Given the description of an element on the screen output the (x, y) to click on. 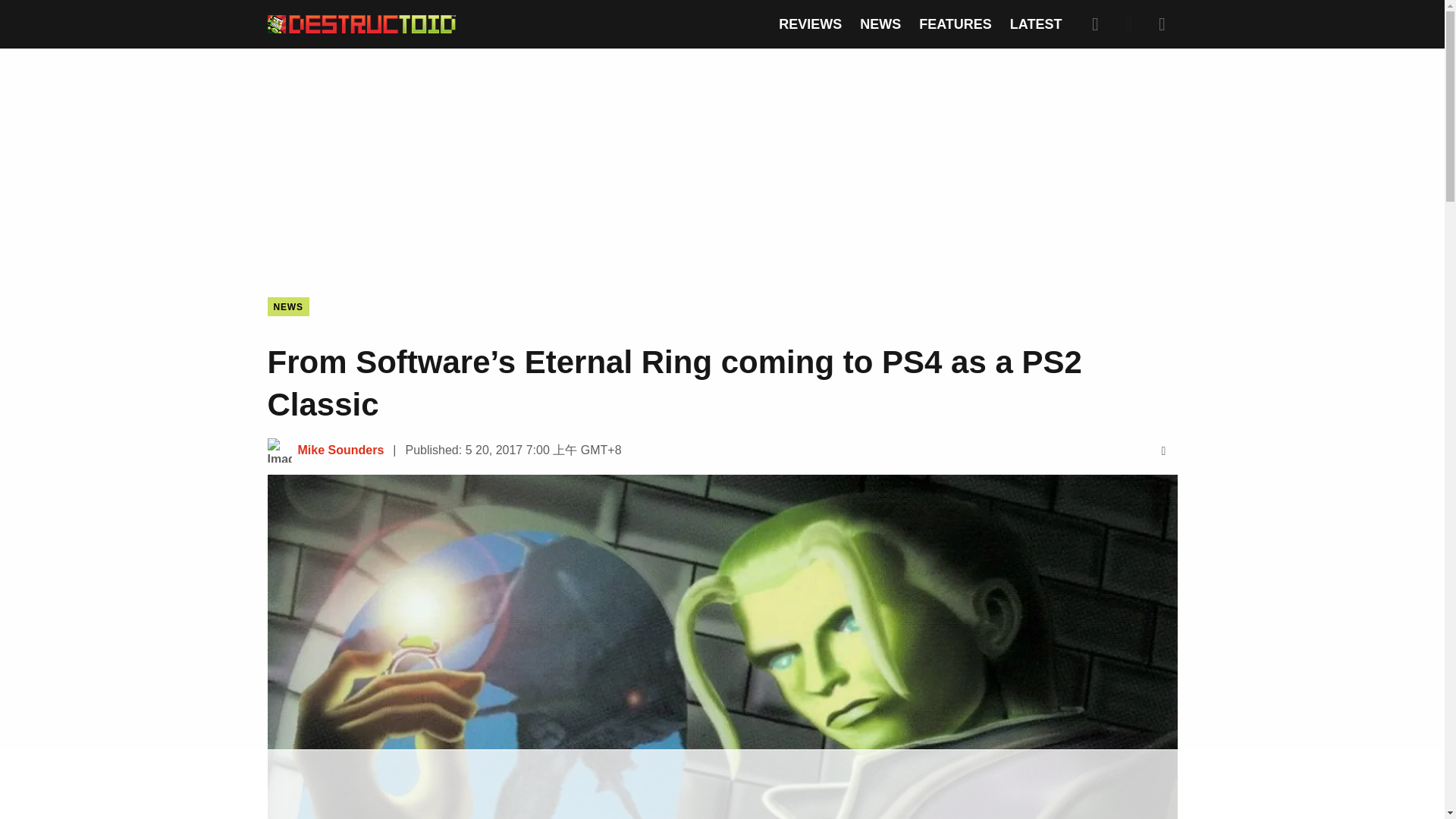
REVIEWS (809, 23)
Search (1094, 24)
3rd party ad content (721, 160)
NEWS (287, 306)
FEATURES (954, 23)
Dark Mode (1127, 24)
Expand Menu (1161, 24)
LATEST (1036, 23)
3rd party ad content (721, 785)
NEWS (880, 23)
